Given the description of an element on the screen output the (x, y) to click on. 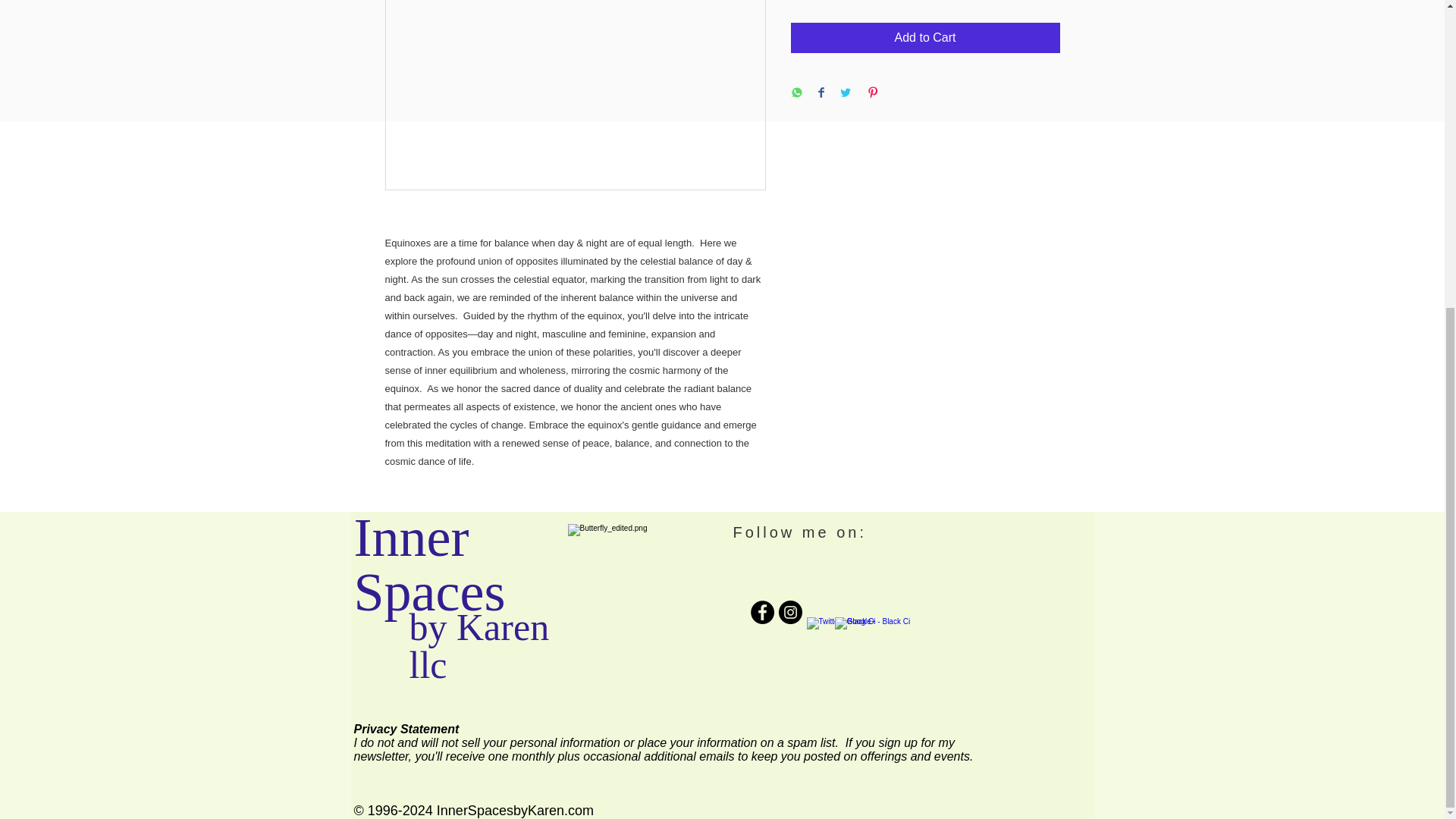
Add to Cart (924, 37)
